Given the description of an element on the screen output the (x, y) to click on. 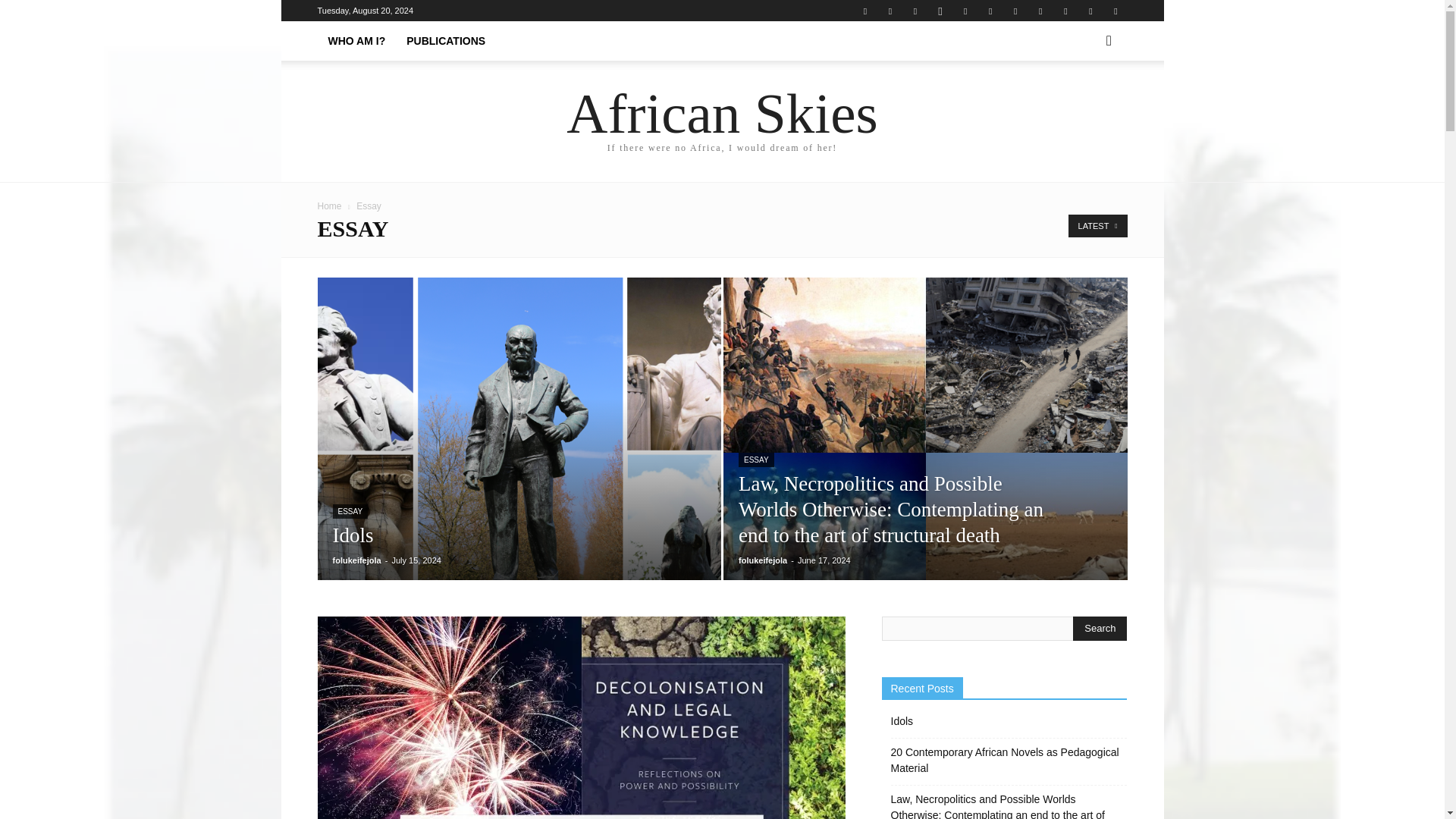
Home (328, 205)
African Skies If there were no Africa, I would dream of her! (721, 122)
PUBLICATIONS (446, 40)
Blogger (864, 10)
Search (1099, 628)
Facebook (890, 10)
Search (1085, 102)
Instagram (940, 10)
WHO AM I? (356, 40)
